Given the description of an element on the screen output the (x, y) to click on. 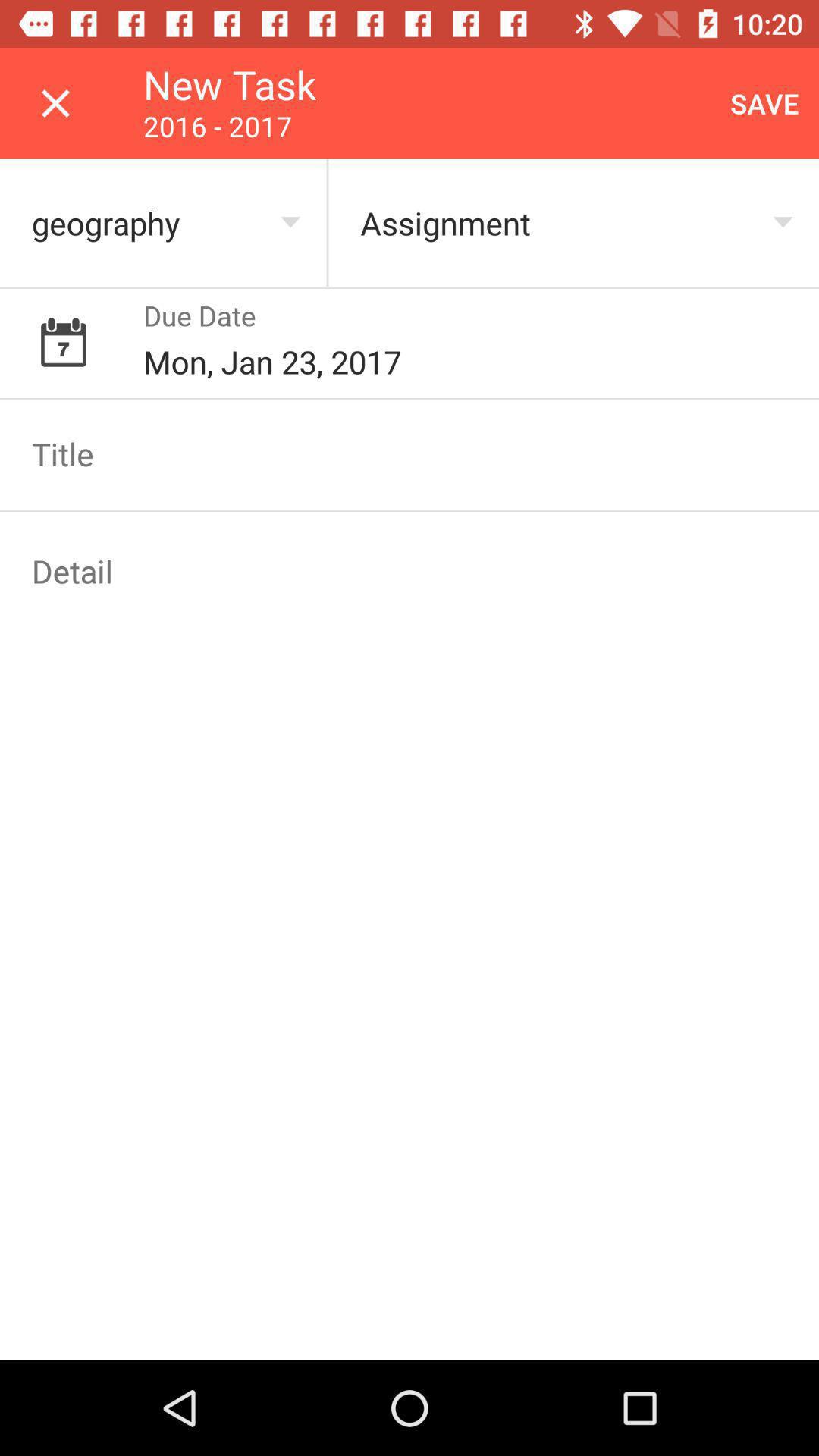
address page (409, 570)
